Given the description of an element on the screen output the (x, y) to click on. 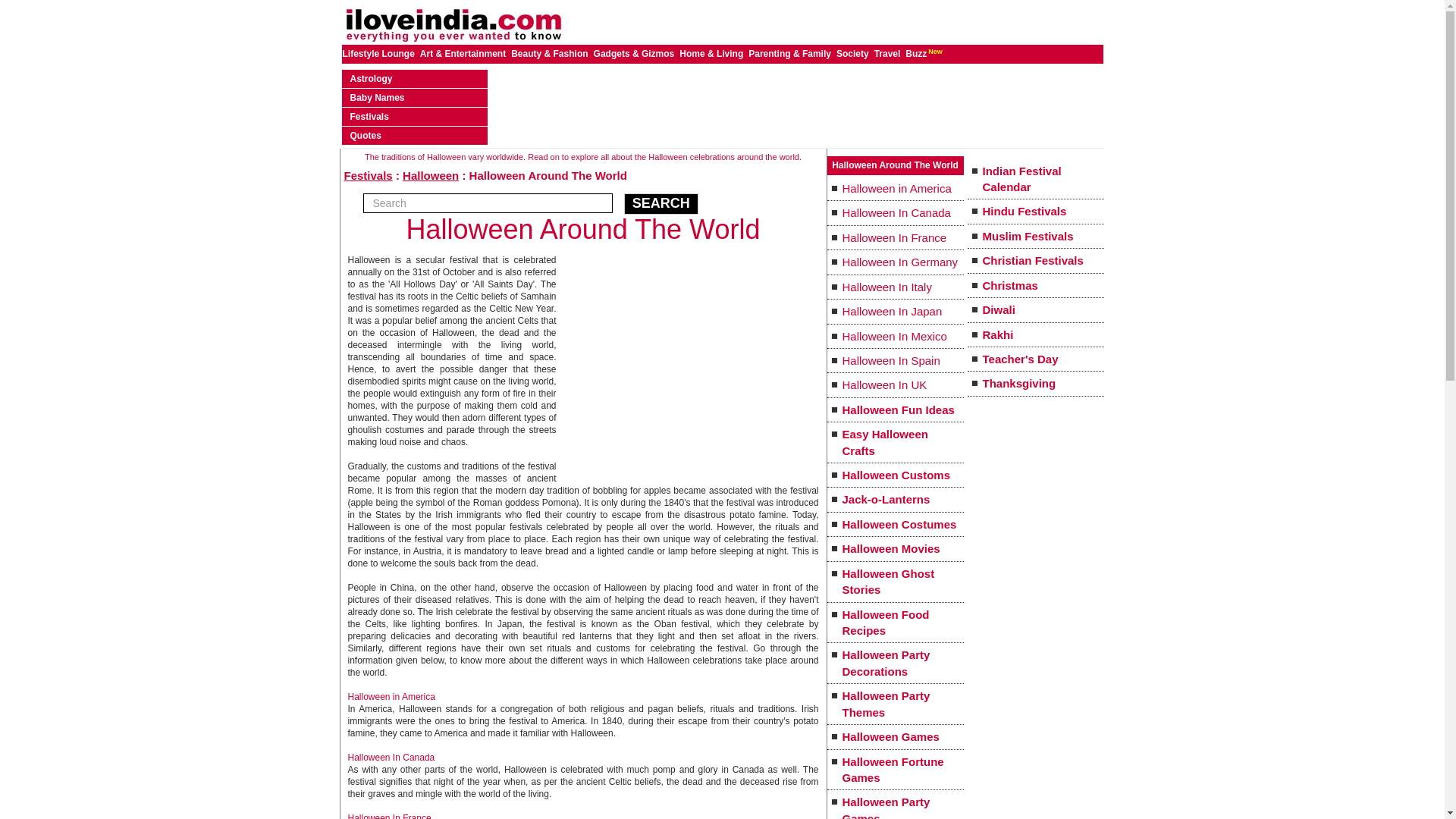
Lifestyle Lounge (379, 53)
Astrology (371, 78)
Halloween (430, 174)
Festivals (369, 116)
Halloween In Canada (390, 757)
Baby Names (377, 97)
Halloween In France (388, 816)
Festivals (368, 174)
Quotes (365, 135)
SEARCH (661, 203)
